Given the description of an element on the screen output the (x, y) to click on. 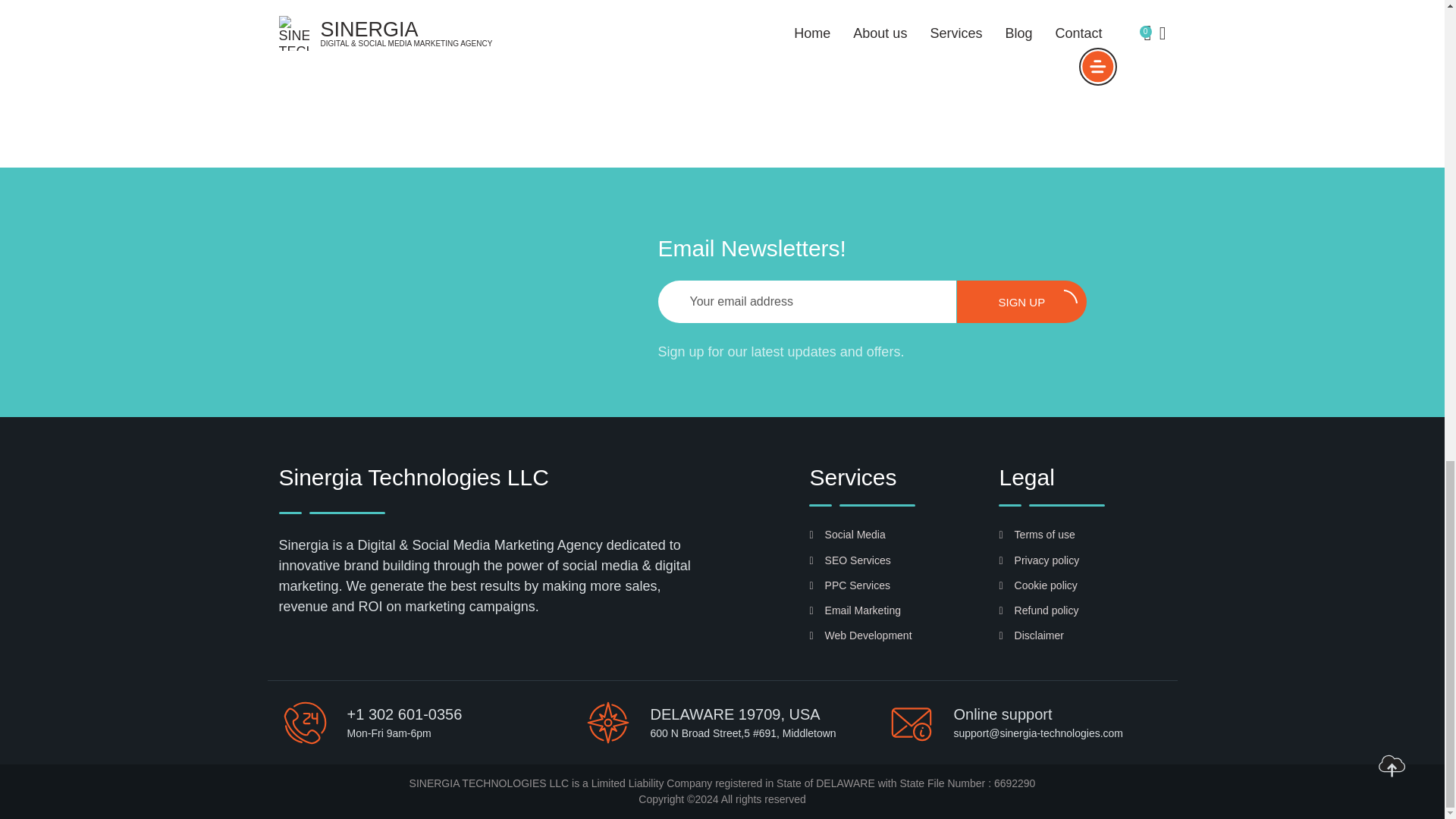
Web Development (860, 635)
SIGN UP (1021, 301)
Privacy policy (1038, 560)
Cookie policy (1037, 585)
Terms of use (1036, 534)
Refund policy (1038, 610)
PPC Services (849, 585)
Disclaimer (1030, 635)
SEO Services (849, 560)
Email Marketing (855, 610)
Social Media (847, 534)
